Given the description of an element on the screen output the (x, y) to click on. 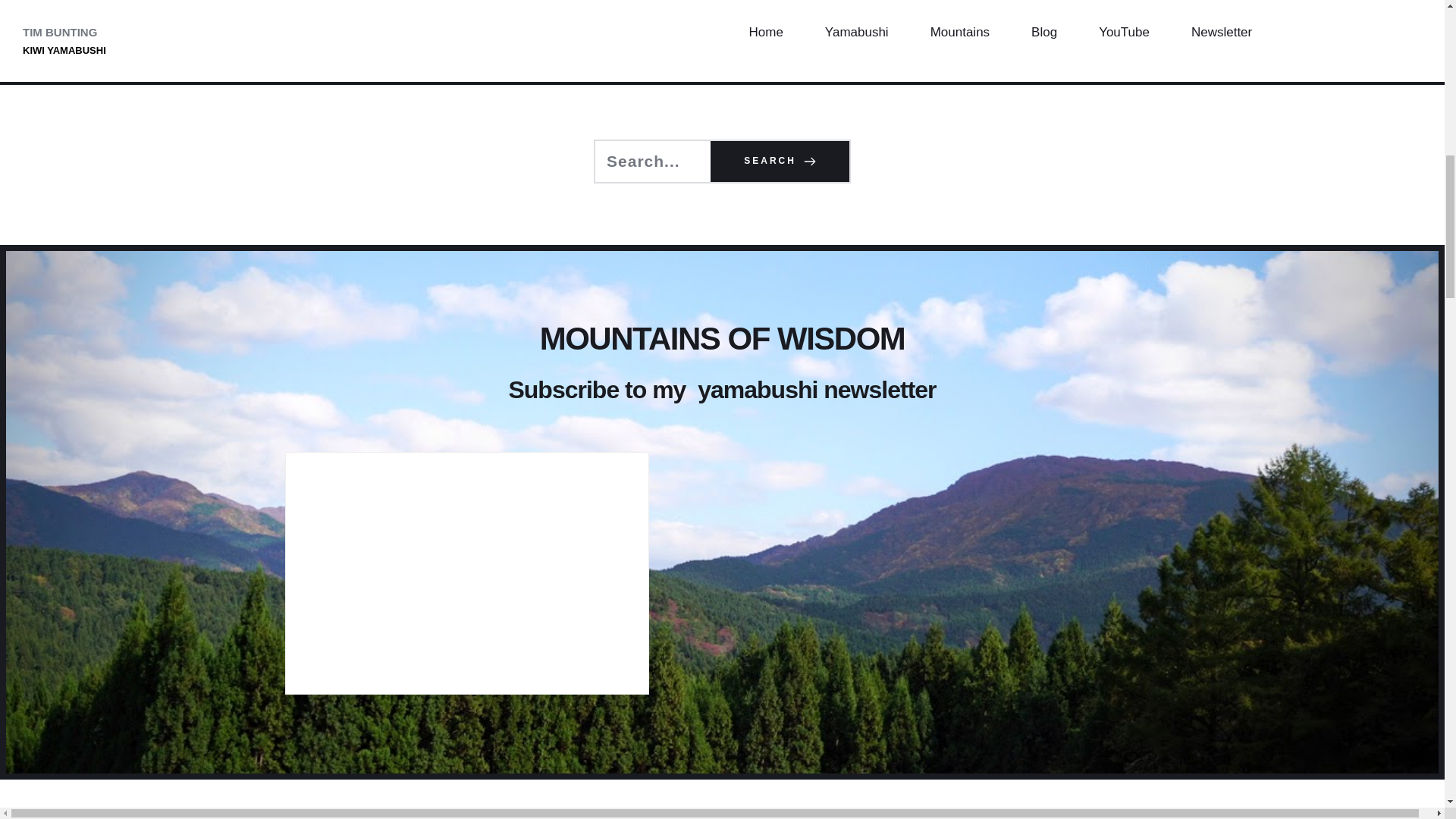
SEARCH (779, 160)
What is a Yamabushi? The ancient mountain dwellers of Japan (606, 50)
Sunken costs and Stoic Philosophy (836, 50)
